Given the description of an element on the screen output the (x, y) to click on. 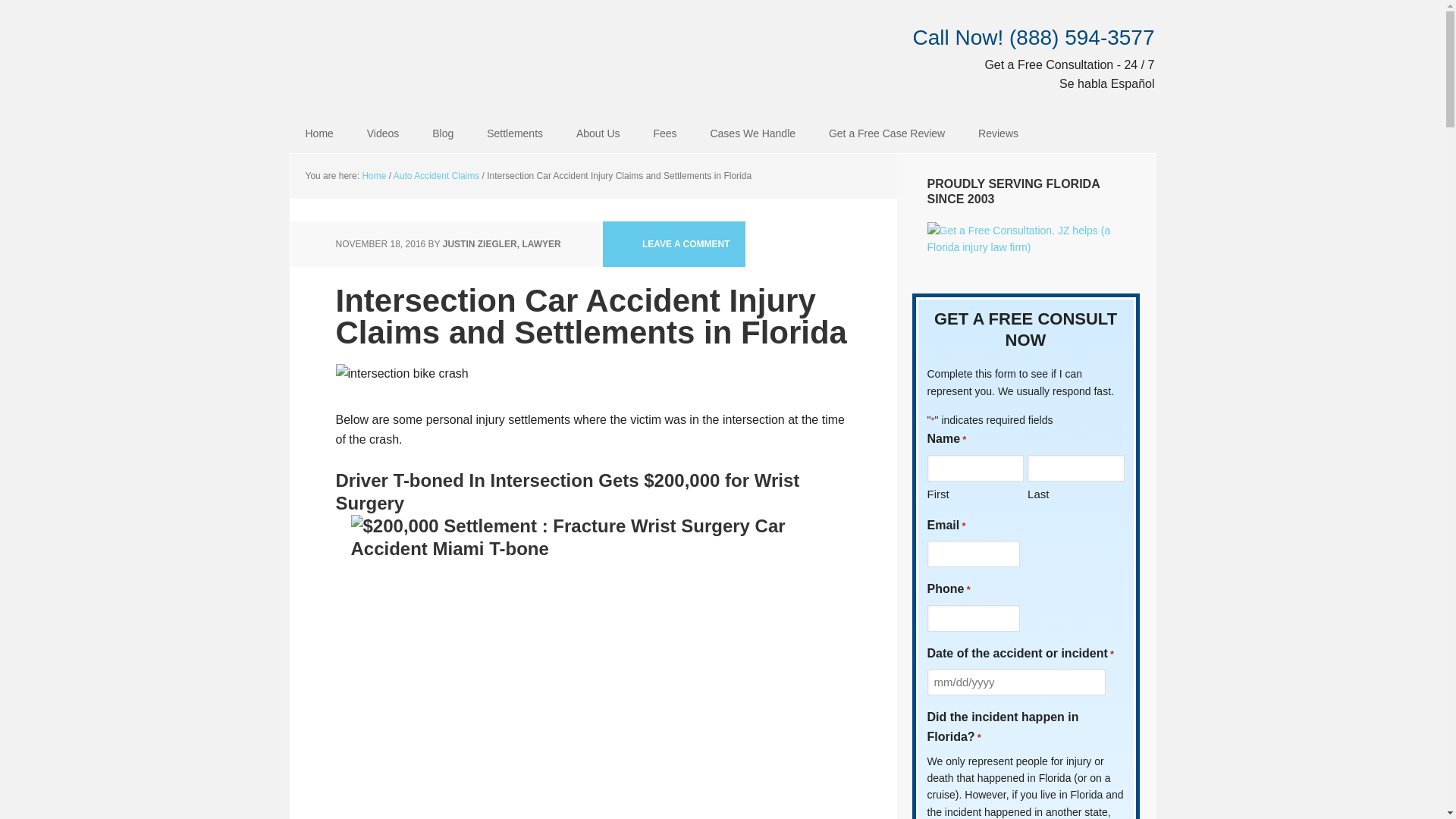
Settlements (514, 133)
Blog (442, 133)
Settlements (514, 133)
About Us (597, 133)
Fees (664, 133)
Home (318, 133)
Videos (383, 133)
Cases We Handle (752, 133)
